Given the description of an element on the screen output the (x, y) to click on. 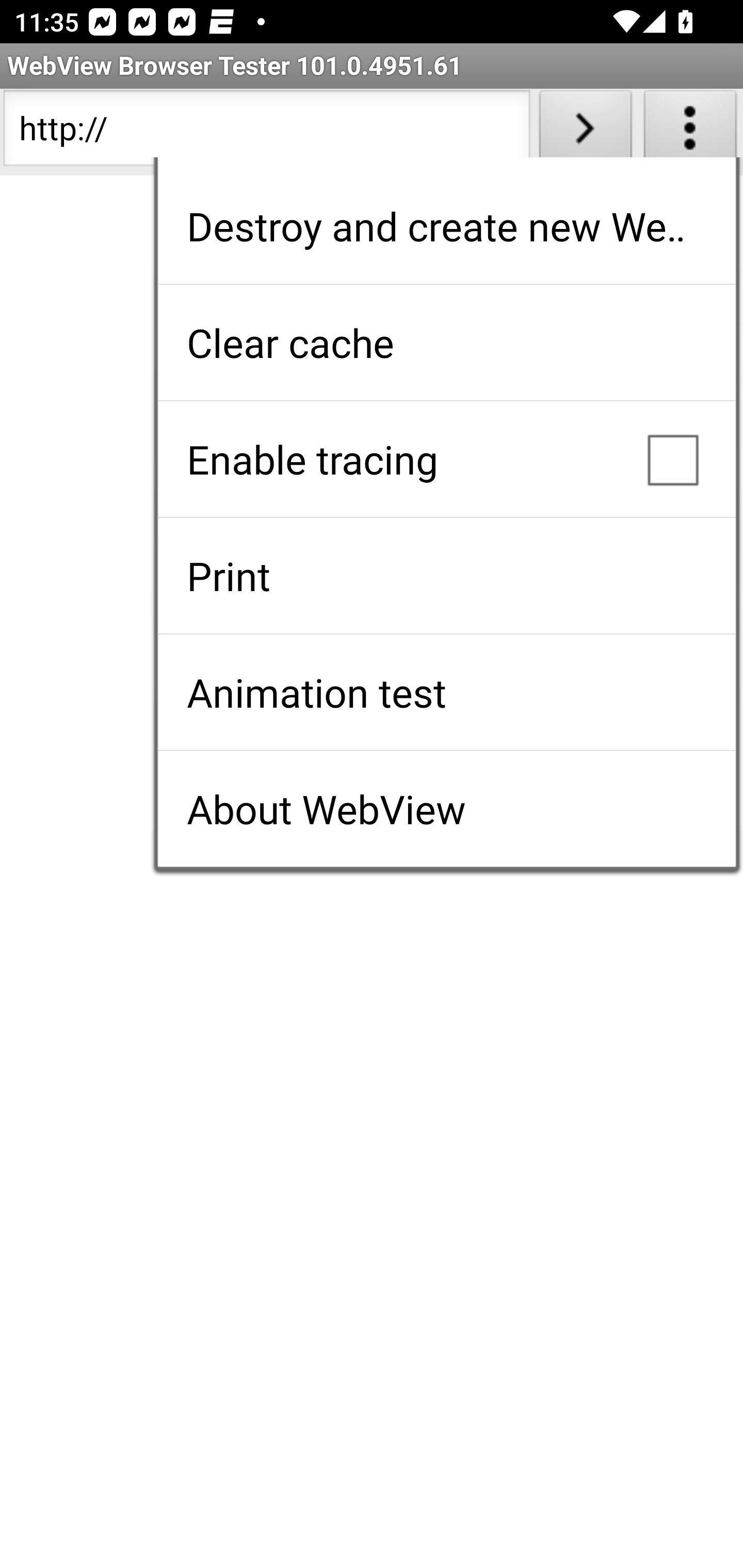
Destroy and create new WebView (446, 225)
Clear cache (446, 342)
Enable tracing (446, 459)
Print (446, 575)
Animation test (446, 692)
About WebView (446, 809)
